Given the description of an element on the screen output the (x, y) to click on. 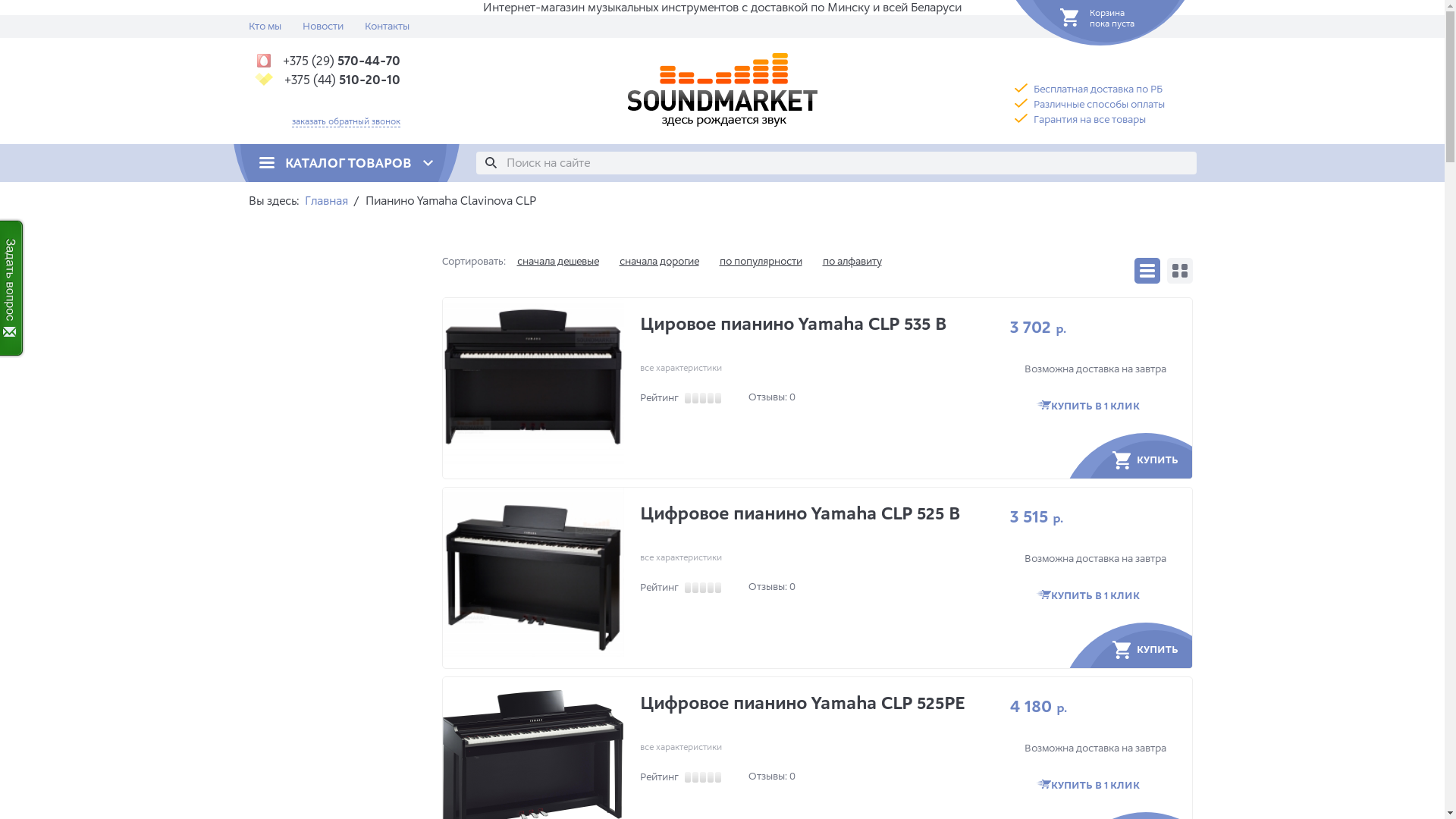
+375 (44) 510-20-10 Element type: text (324, 79)
+375 (29) 570-44-70 Element type: text (324, 60)
